Given the description of an element on the screen output the (x, y) to click on. 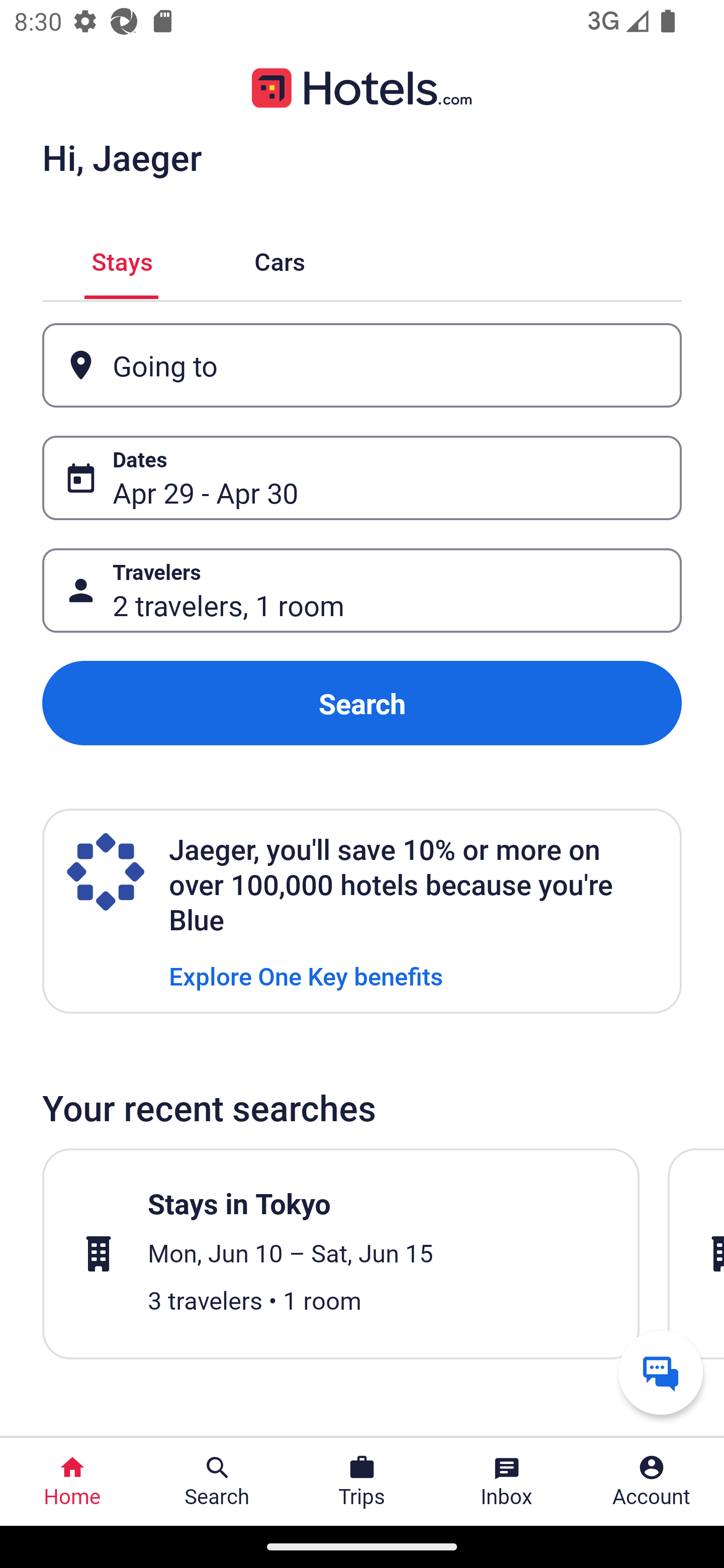
Hi, Jaeger (121, 156)
Cars (279, 259)
Going to Button (361, 365)
Dates Button Apr 29 - Apr 30 (361, 477)
Travelers Button 2 travelers, 1 room (361, 590)
Search (361, 702)
Get help from a virtual agent (660, 1371)
Search Search Button (216, 1481)
Trips Trips Button (361, 1481)
Inbox Inbox Button (506, 1481)
Account Profile. Button (651, 1481)
